Given the description of an element on the screen output the (x, y) to click on. 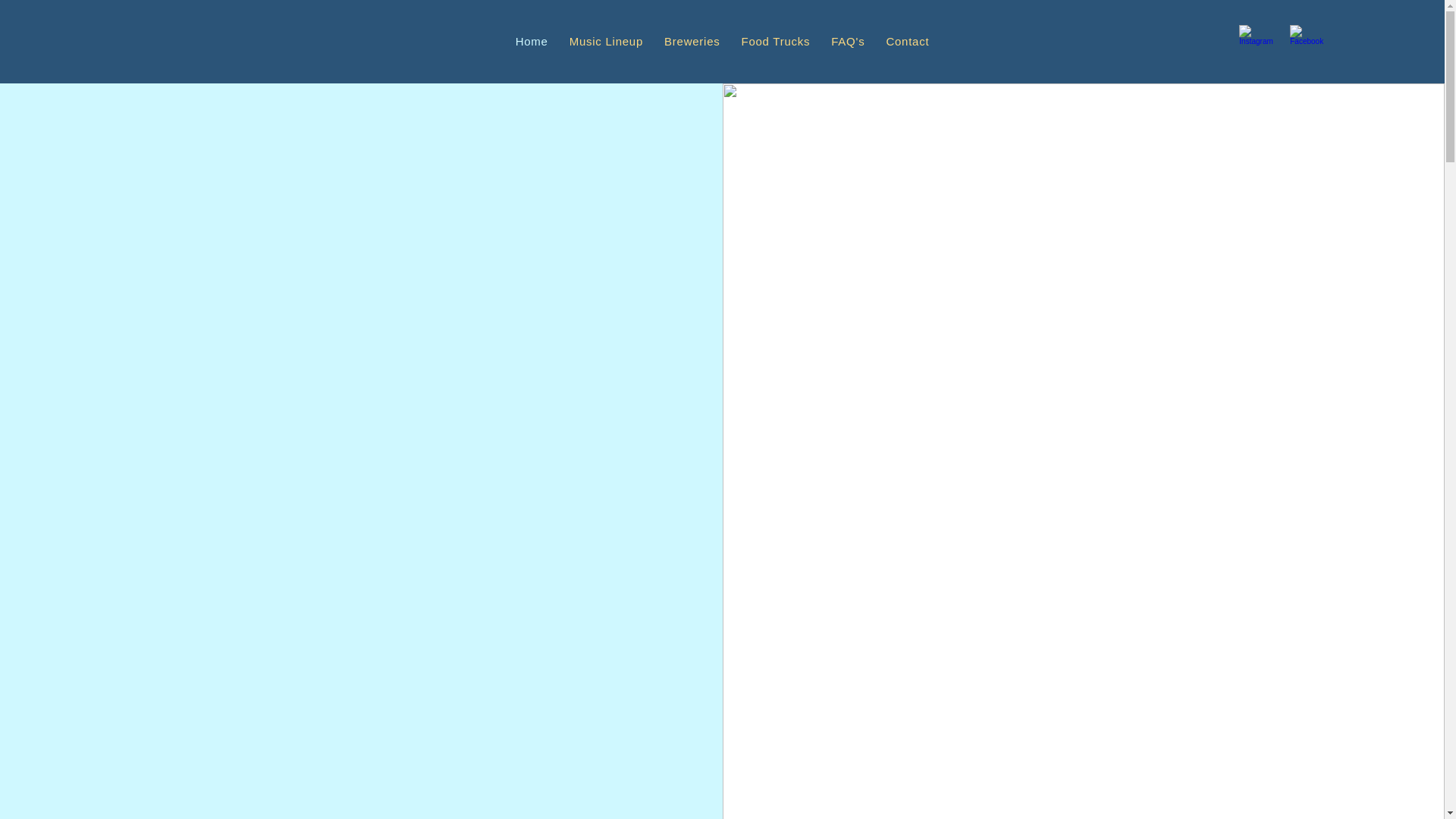
Breweries (691, 41)
Contact (906, 41)
Food Trucks (774, 41)
Music Lineup (606, 41)
Home (532, 41)
FAQ's (848, 41)
